Given the description of an element on the screen output the (x, y) to click on. 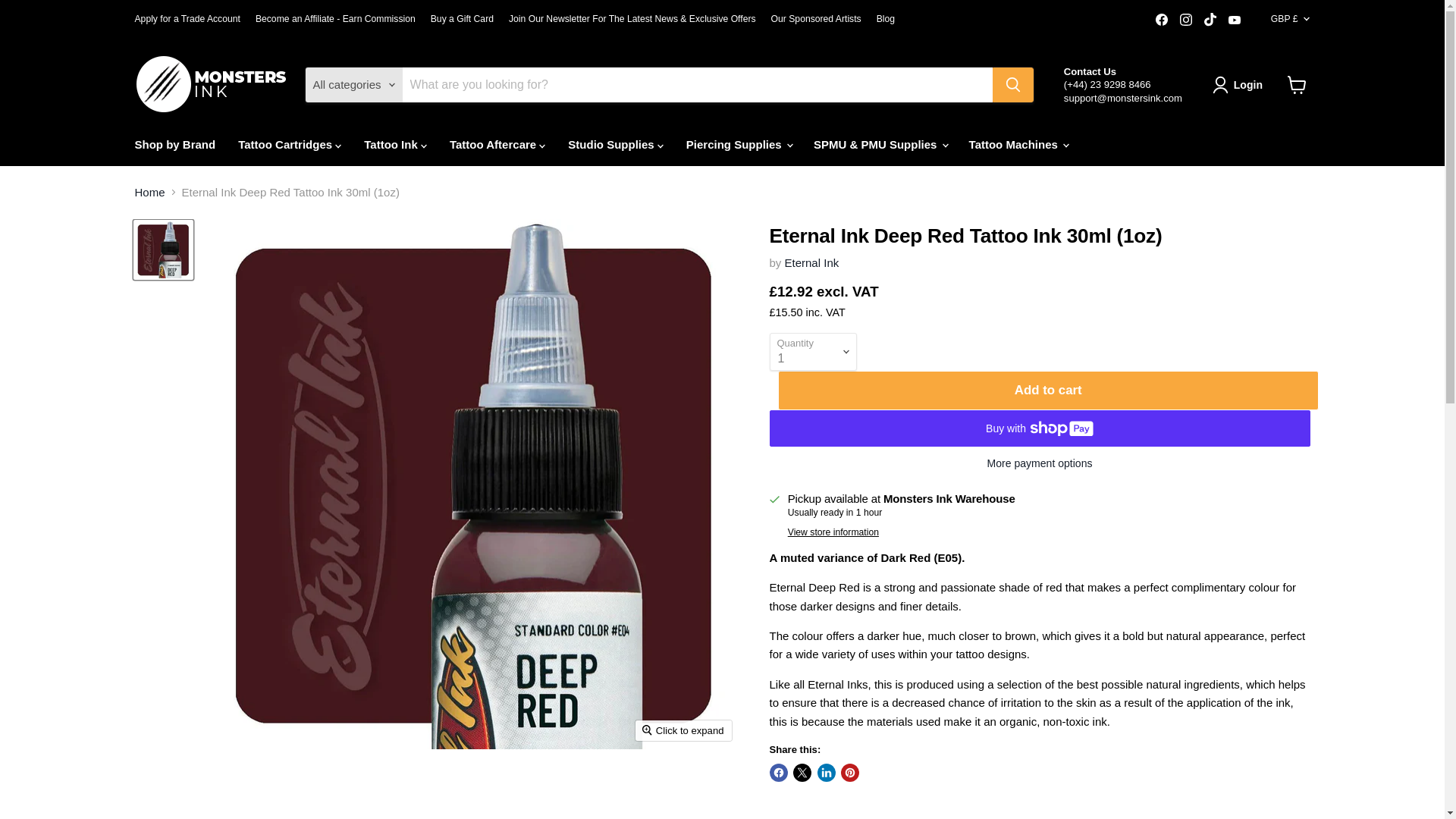
Become an Affiliate - Earn Commission (335, 18)
Instagram (1185, 19)
Blog (885, 18)
Our Sponsored Artists (816, 18)
Eternal Ink (812, 262)
Find us on Instagram (1185, 19)
Buy a Gift Card (461, 18)
YouTube (1234, 19)
Facebook (1161, 19)
Find us on Facebook (1161, 19)
